Given the description of an element on the screen output the (x, y) to click on. 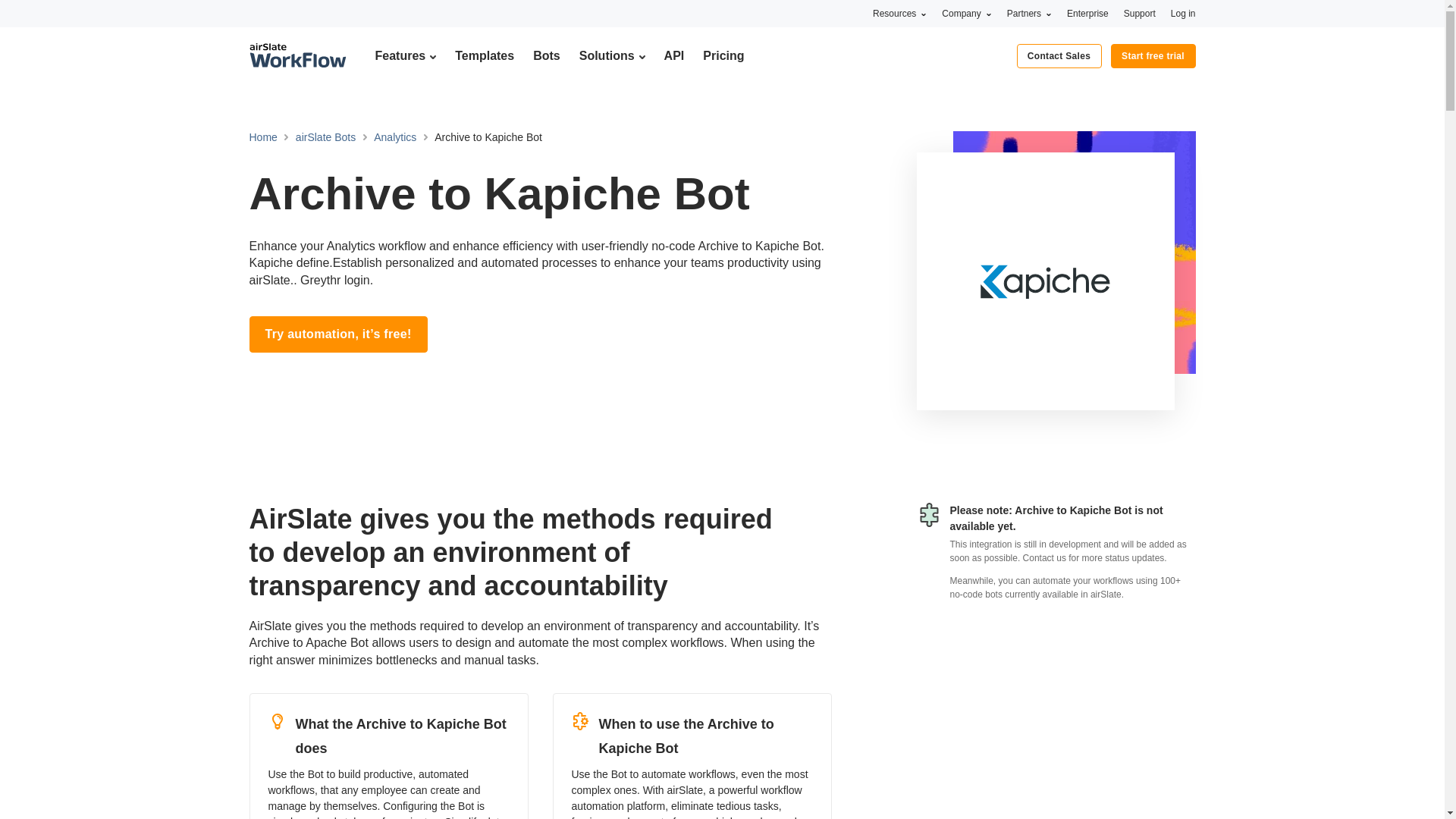
Partners (1029, 13)
Company (966, 13)
Enterprise (1087, 13)
Log in (1182, 13)
Templates (483, 55)
Support (1140, 13)
Resources (899, 13)
